Given the description of an element on the screen output the (x, y) to click on. 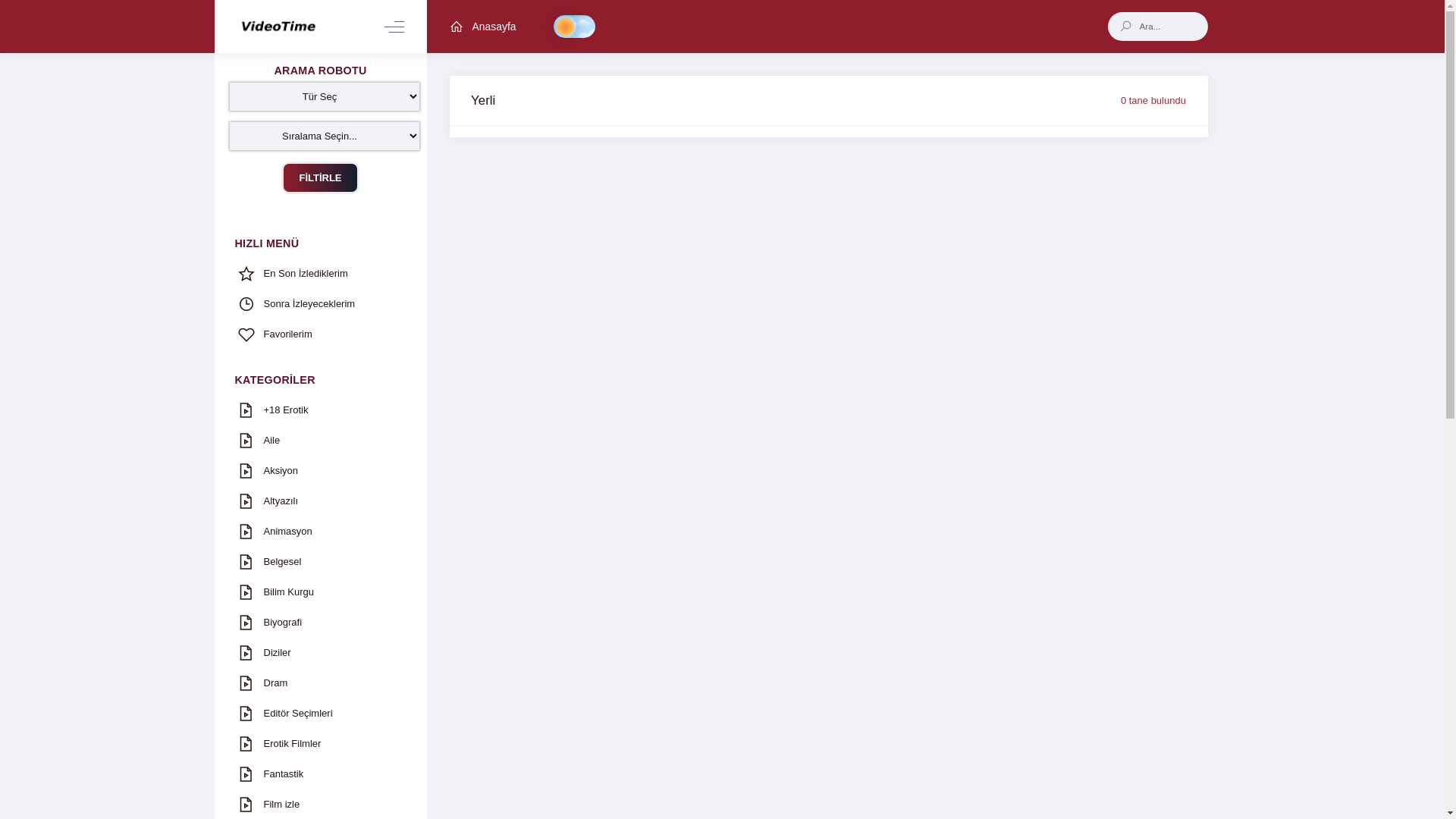
Dram Element type: text (319, 683)
Aile Element type: text (319, 440)
Fantastik Element type: text (319, 774)
Film izle | Hd film izle | Full film izle Element type: hover (278, 26)
Anasayfa Element type: text (481, 26)
+18 Erotik Element type: text (319, 410)
Bilim Kurgu Element type: text (319, 592)
Belgesel Element type: text (319, 561)
Erotik Filmler Element type: text (319, 743)
Biyografi Element type: text (319, 622)
Aksiyon Element type: text (319, 470)
Diziler Element type: text (319, 652)
Animasyon Element type: text (319, 531)
Favorilerim Element type: text (319, 334)
